Given the description of an element on the screen output the (x, y) to click on. 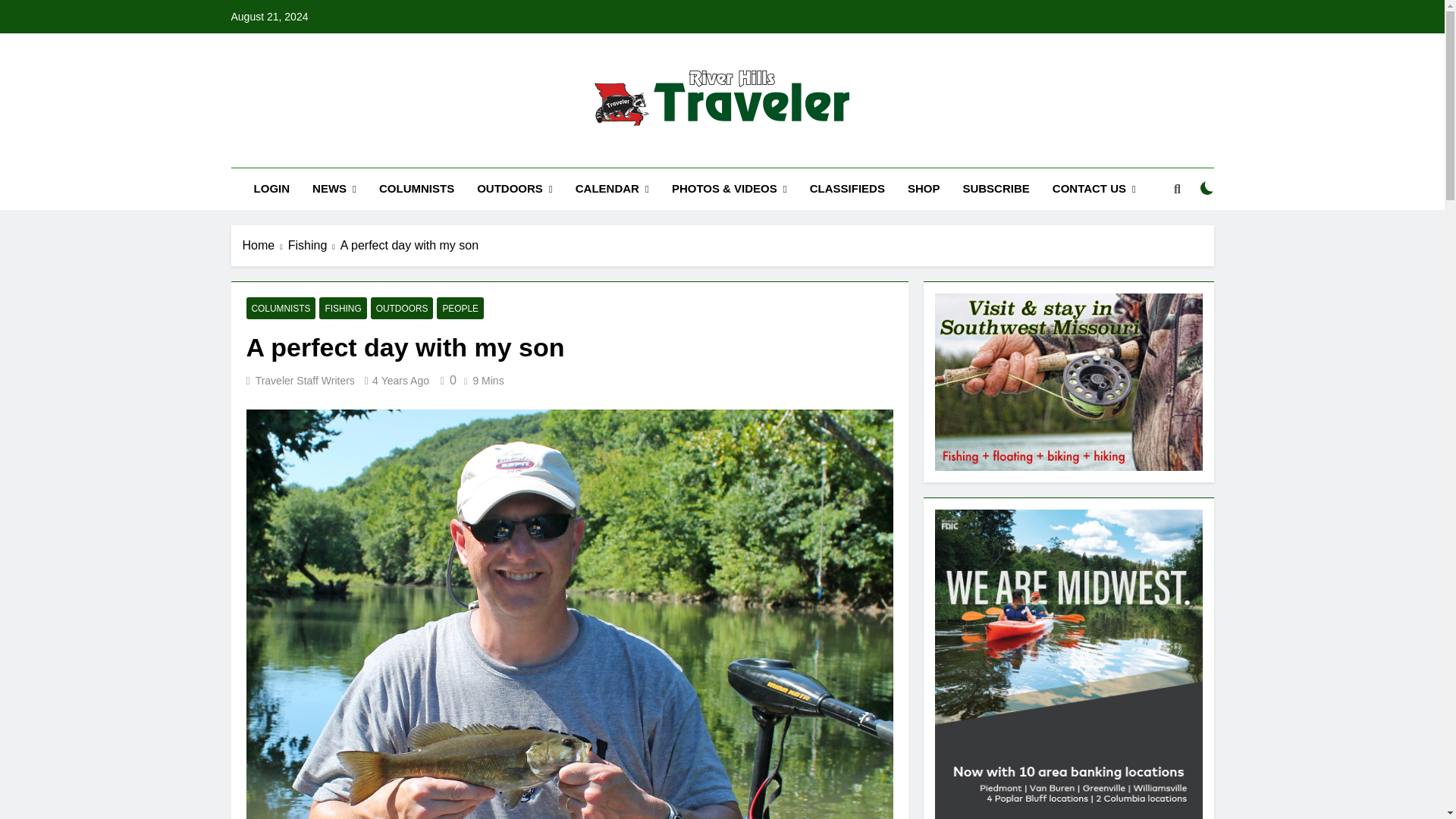
NEWS (334, 188)
on (1206, 187)
COLUMNISTS (416, 188)
LOGIN (272, 188)
OUTDOORS (514, 188)
River Hills Traveler (625, 153)
